Given the description of an element on the screen output the (x, y) to click on. 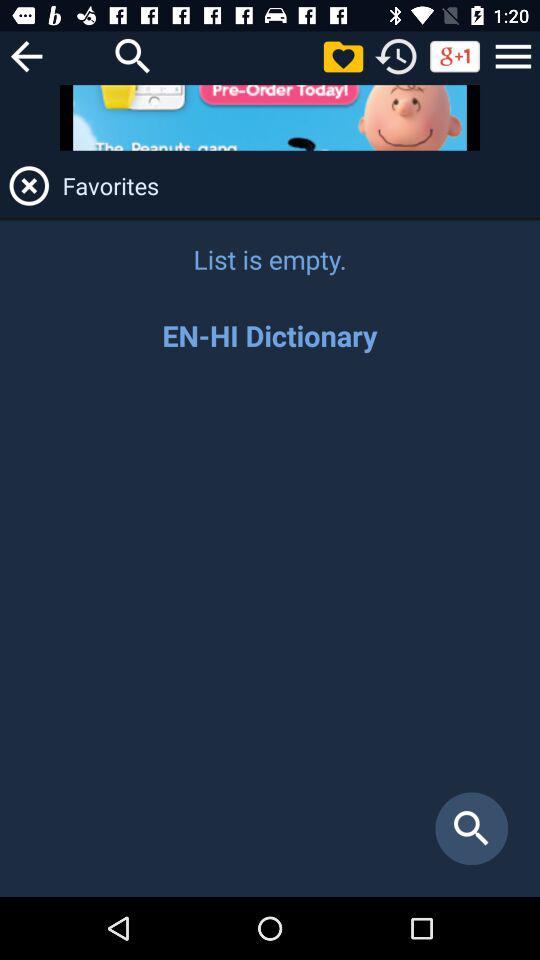
close it (29, 185)
